Given the description of an element on the screen output the (x, y) to click on. 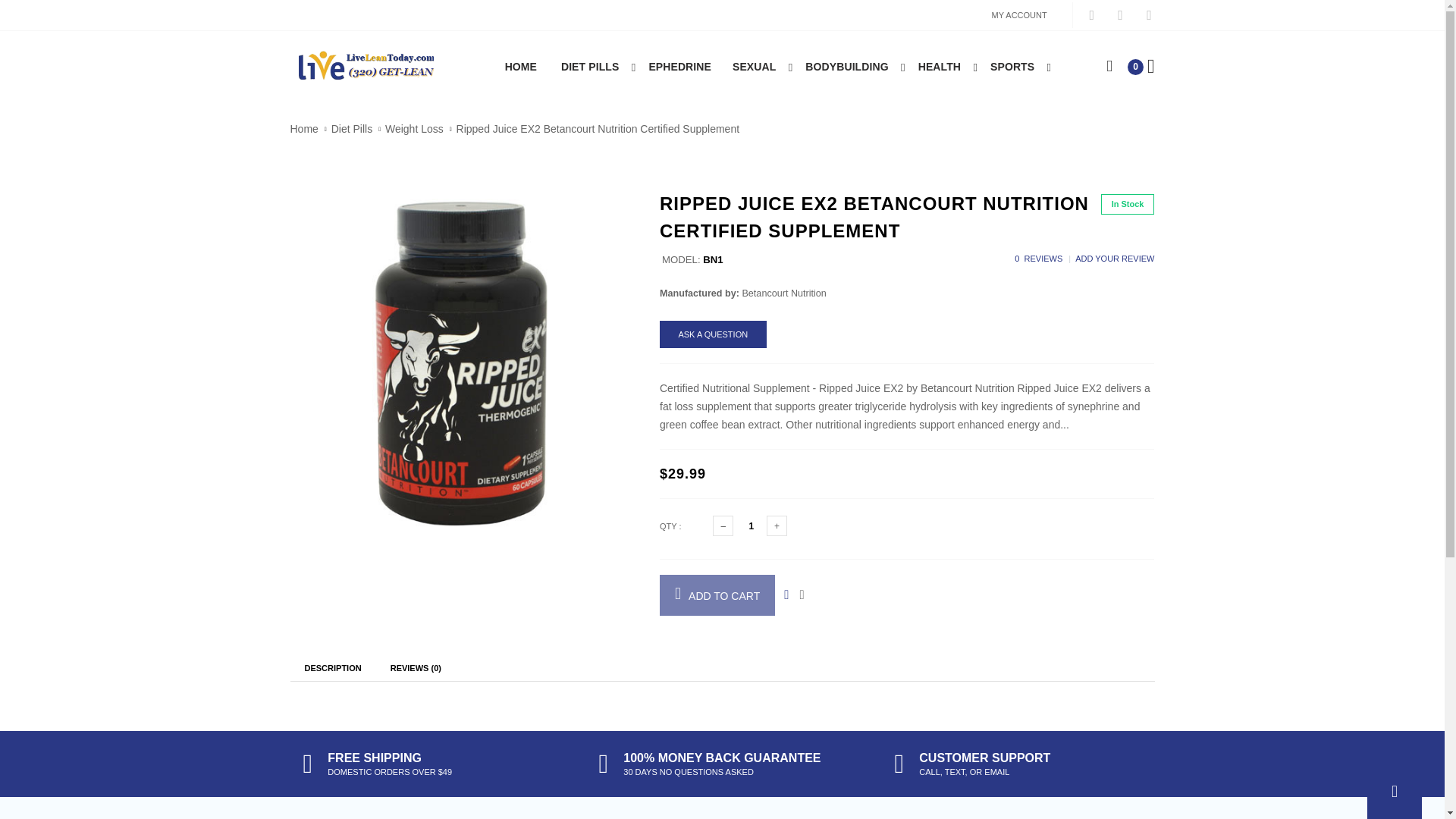
Ripped Juice EX2 Betancourt Nutrition Certified Supplement (459, 363)
Scroll To Top (1394, 791)
1 (751, 526)
Go to Reviews Page (1038, 257)
